Given the description of an element on the screen output the (x, y) to click on. 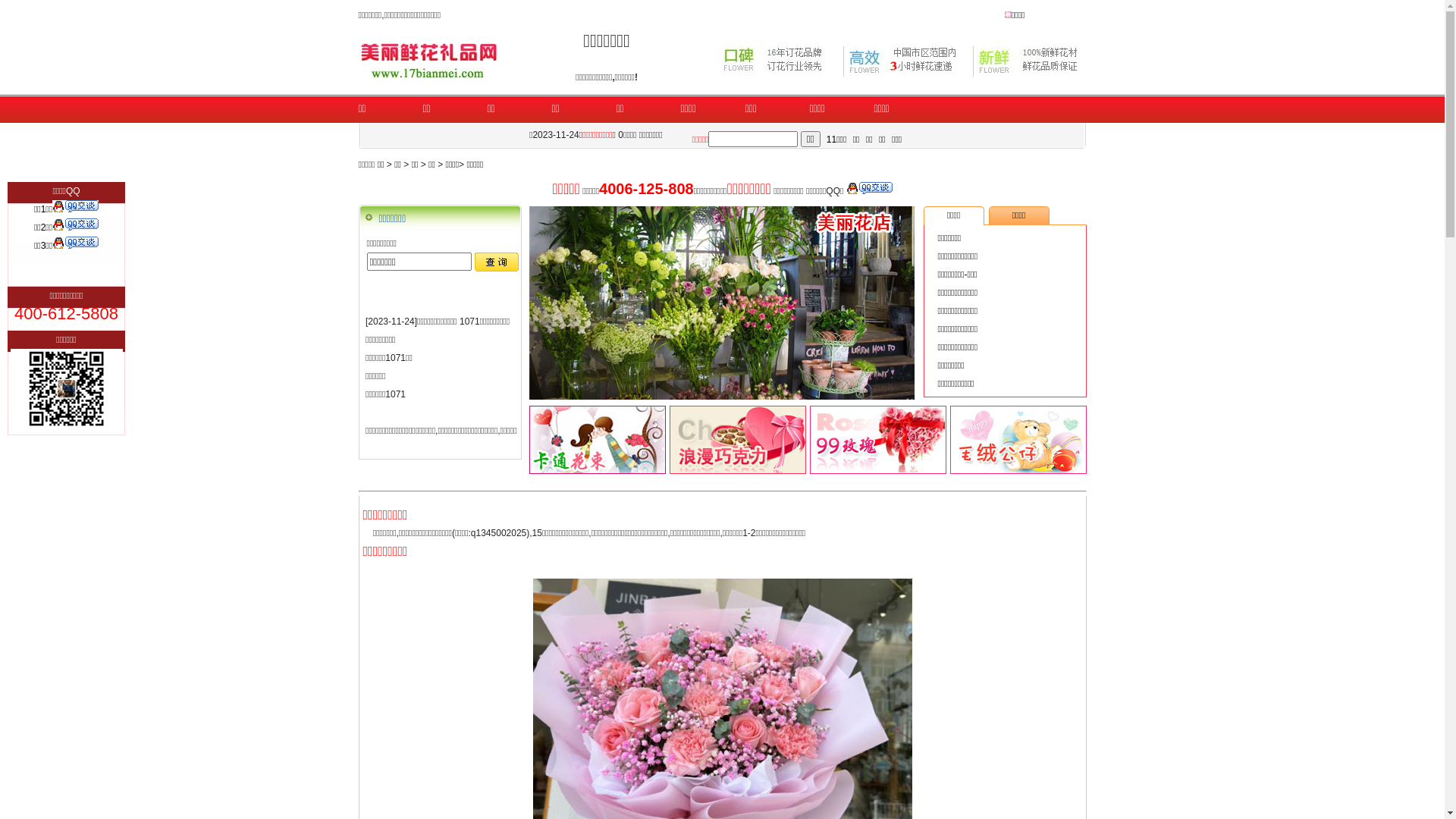
554243866 Element type: hover (66, 387)
QQ:554243866 Element type: hover (75, 208)
QQ:1623062047 Element type: hover (75, 245)
QQ:1345002025 Element type: hover (75, 227)
